Given the description of an element on the screen output the (x, y) to click on. 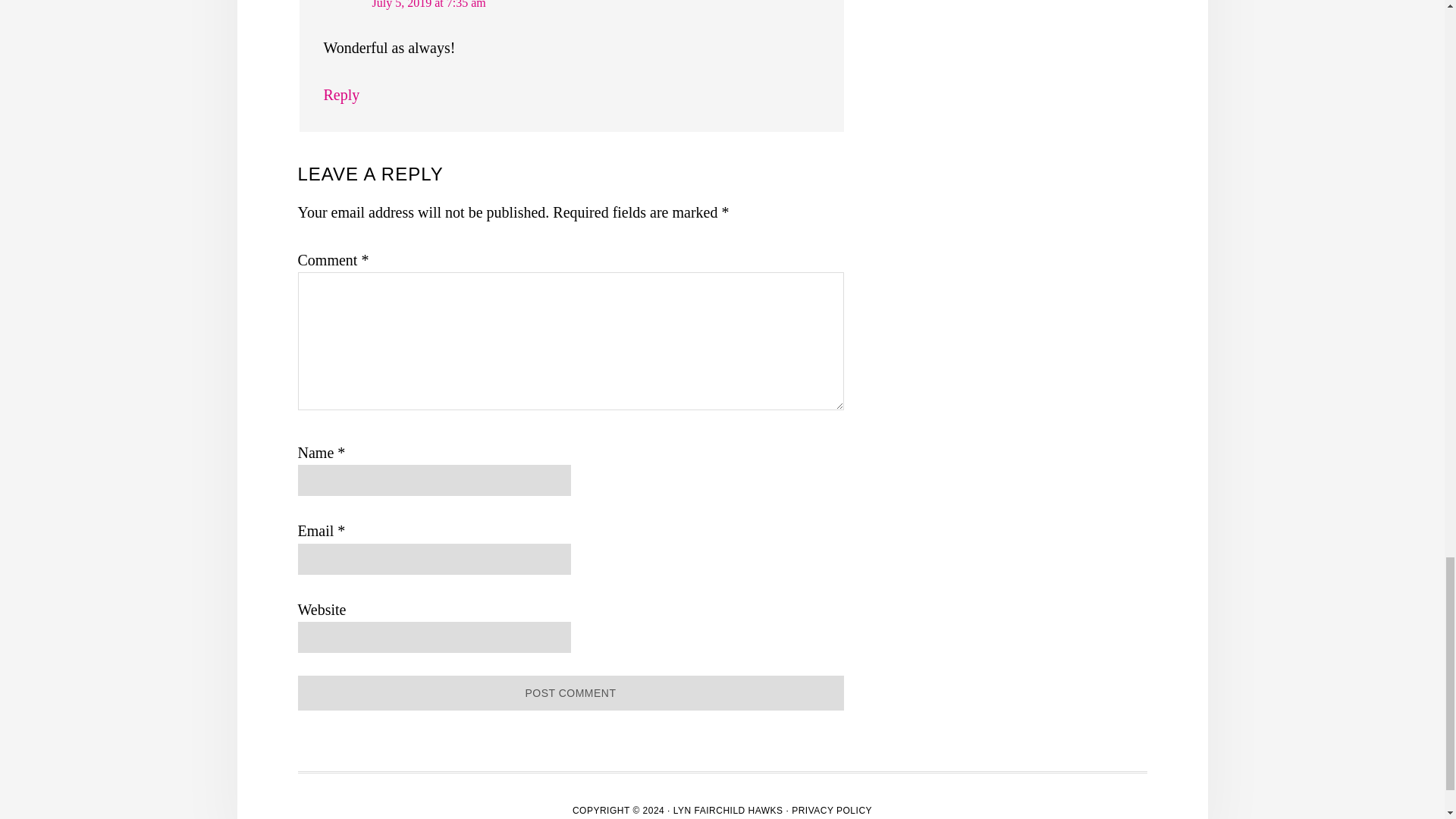
July 5, 2019 at 7:35 am (427, 4)
Post Comment (570, 692)
Reply (341, 94)
Post Comment (570, 692)
